Given the description of an element on the screen output the (x, y) to click on. 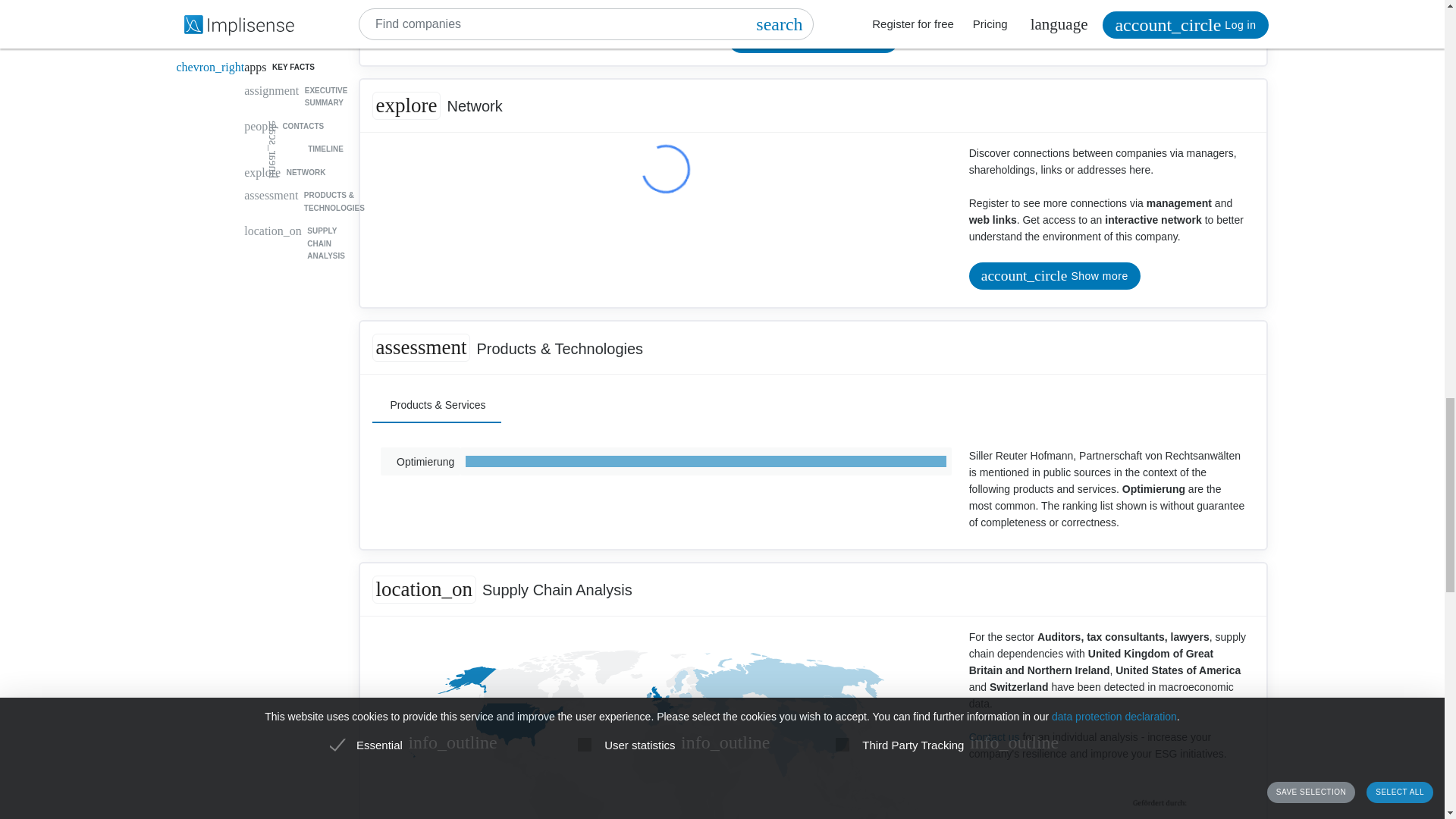
Optimierung (420, 461)
Optimierung: 2 hits (706, 461)
